Given the description of an element on the screen output the (x, y) to click on. 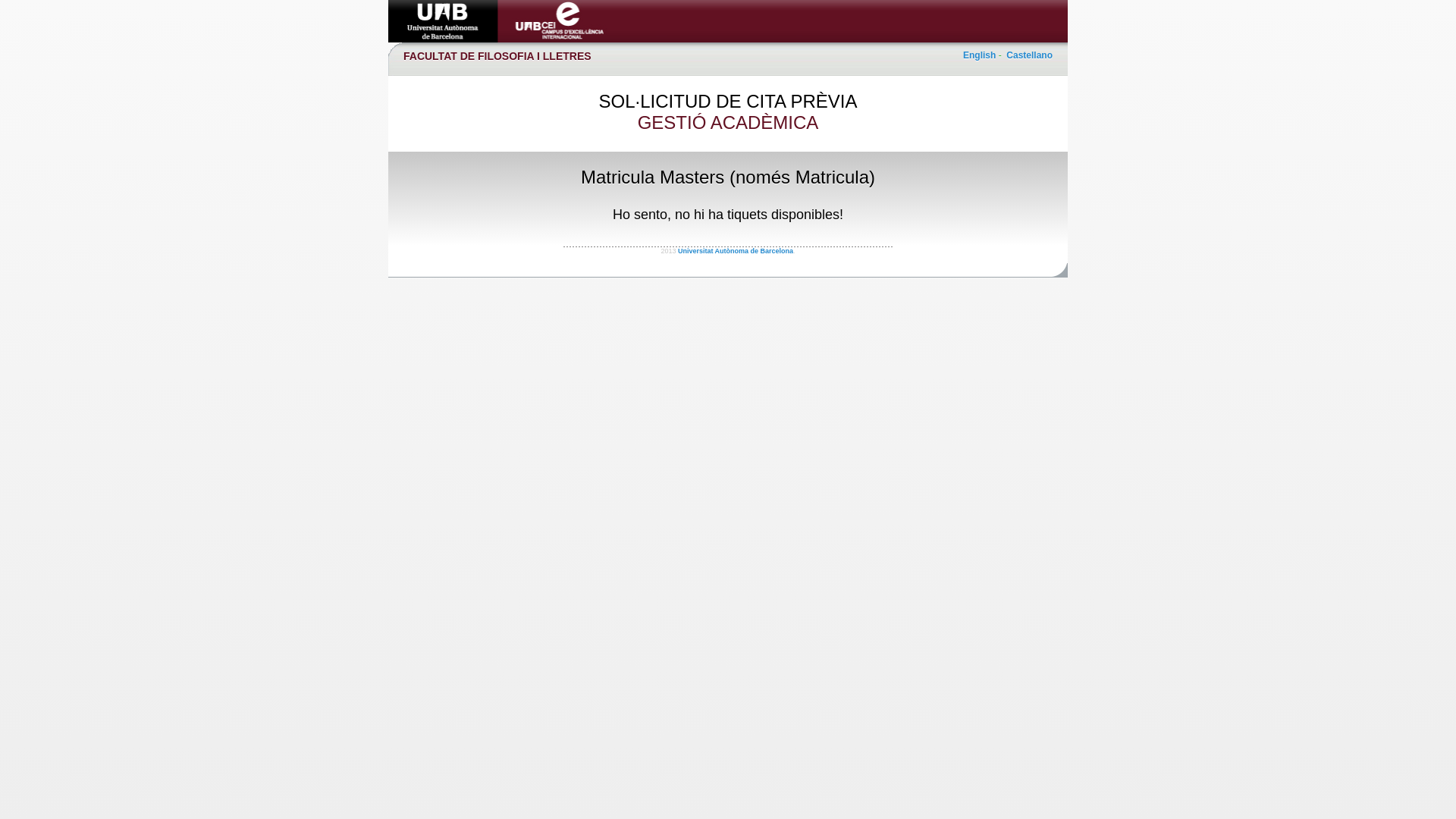
Castellano Element type: text (1029, 55)
English Element type: text (979, 55)
